Given the description of an element on the screen output the (x, y) to click on. 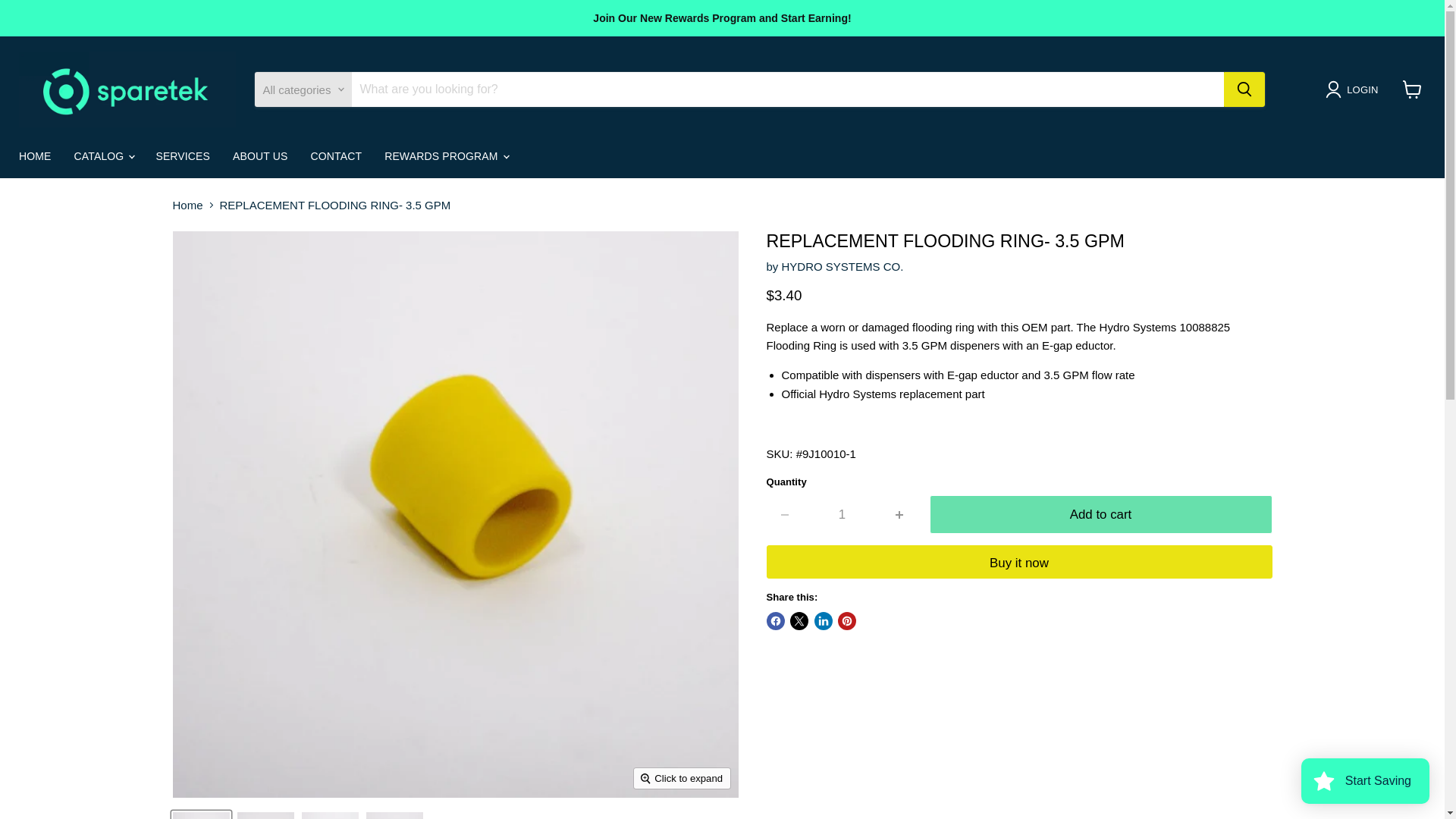
1 (841, 514)
View cart (1411, 89)
HYDRO SYSTEMS CO. (842, 266)
LOGIN (1354, 89)
HOME (34, 155)
